Given the description of an element on the screen output the (x, y) to click on. 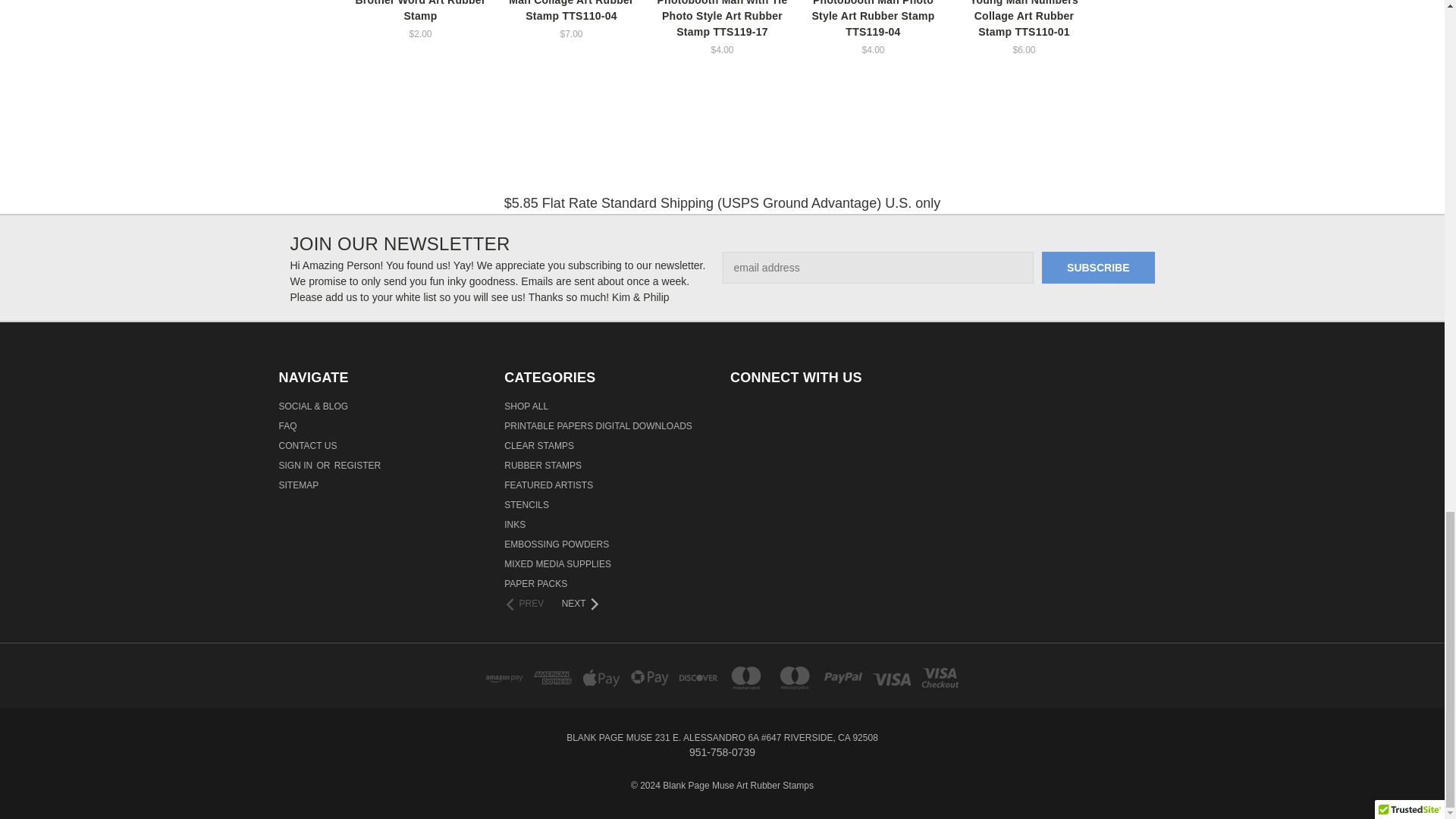
Subscribe (1098, 267)
